Given the description of an element on the screen output the (x, y) to click on. 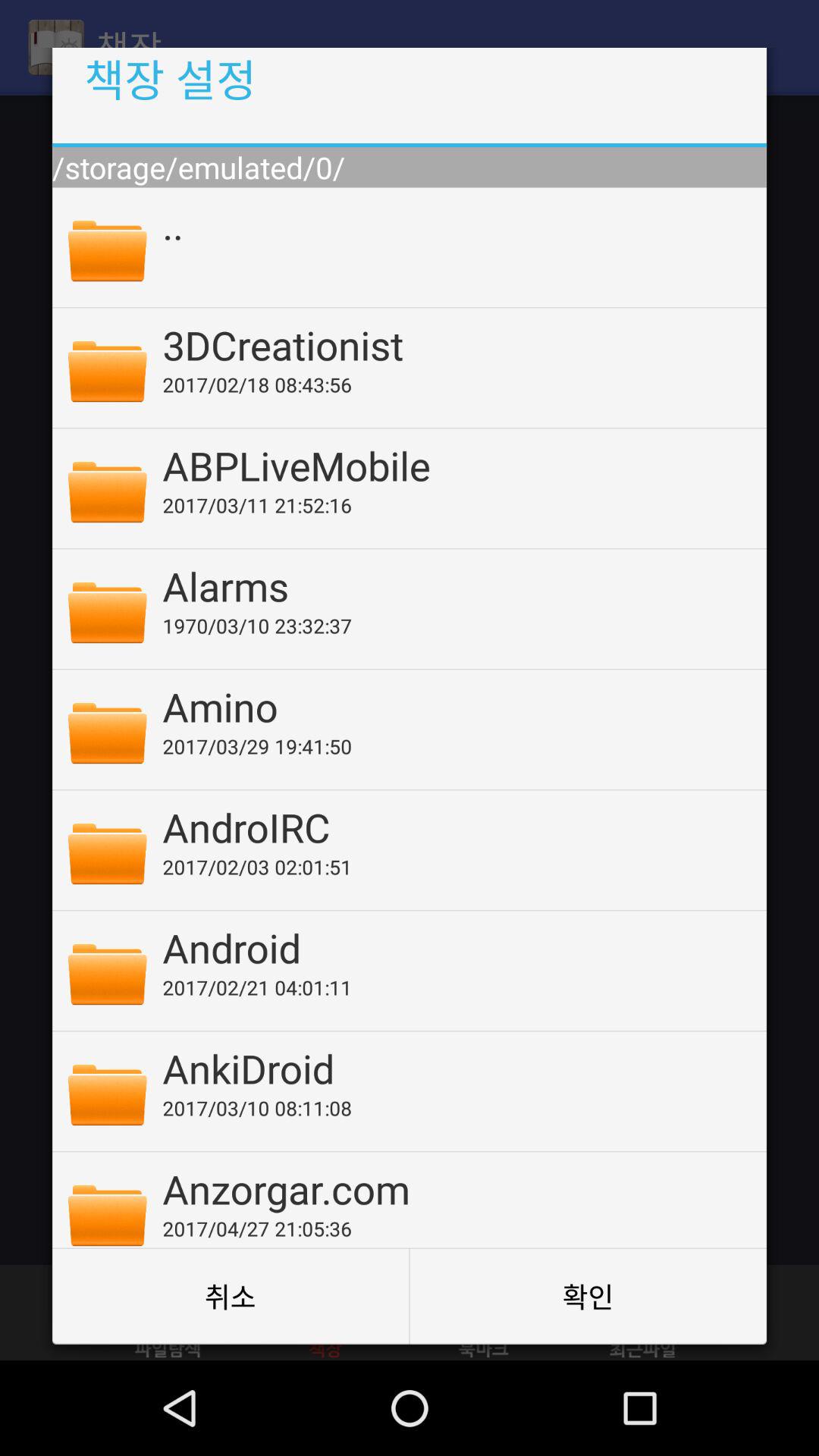
swipe until the androirc item (454, 826)
